Given the description of an element on the screen output the (x, y) to click on. 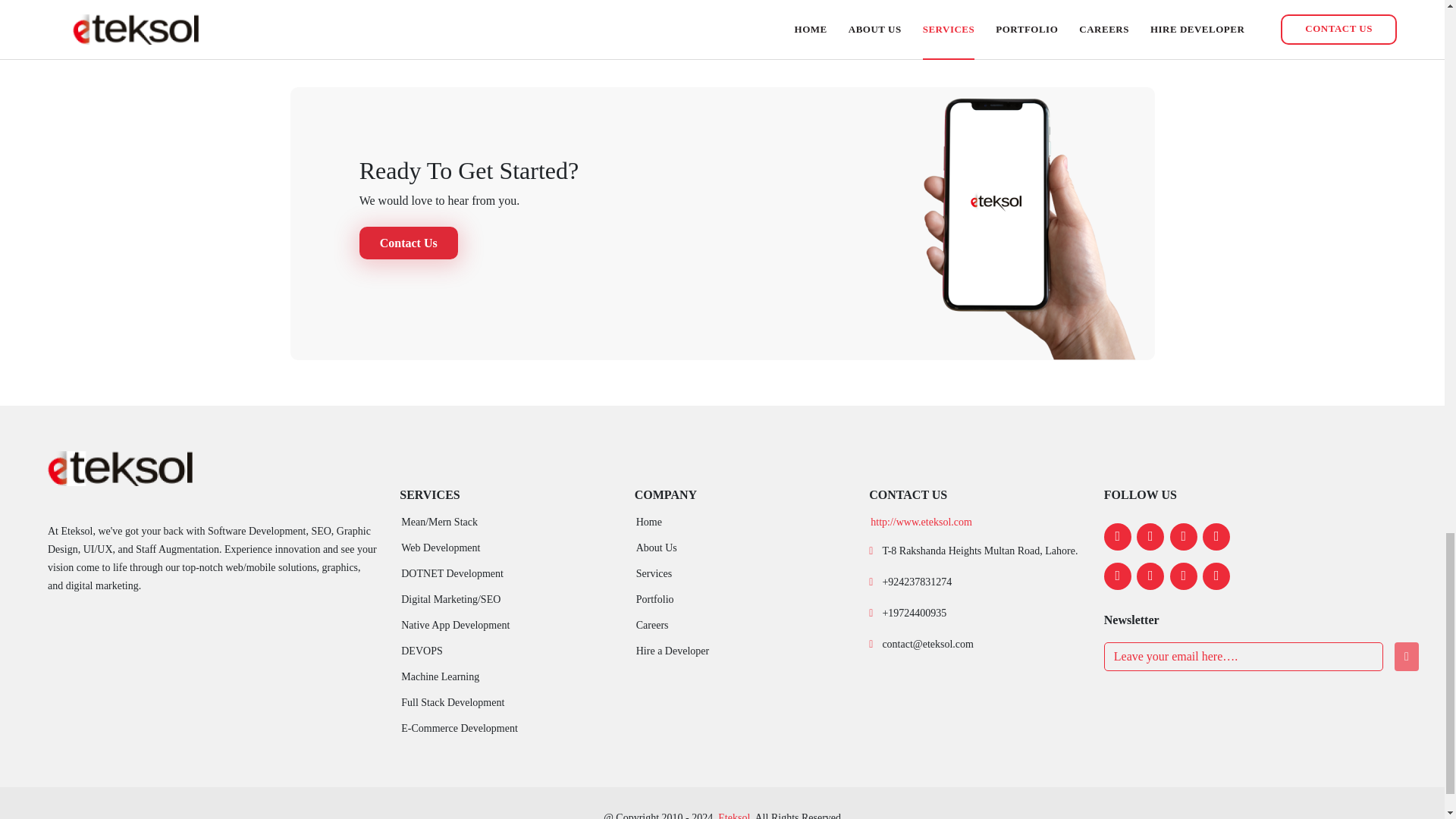
E-Commerce Development (459, 728)
About Us (656, 547)
Home (649, 521)
DOTNET Development (452, 573)
Native App Development (455, 624)
Services (653, 573)
Careers (652, 624)
Web Development (440, 547)
Full Stack Development (452, 702)
Machine Learning (440, 676)
DEVOPS (421, 651)
Hire a Developer (672, 651)
T-8 Rakshanda Heights Multan Road, Lahore. (979, 551)
Portfolio (655, 599)
Contact Us (408, 242)
